Given the description of an element on the screen output the (x, y) to click on. 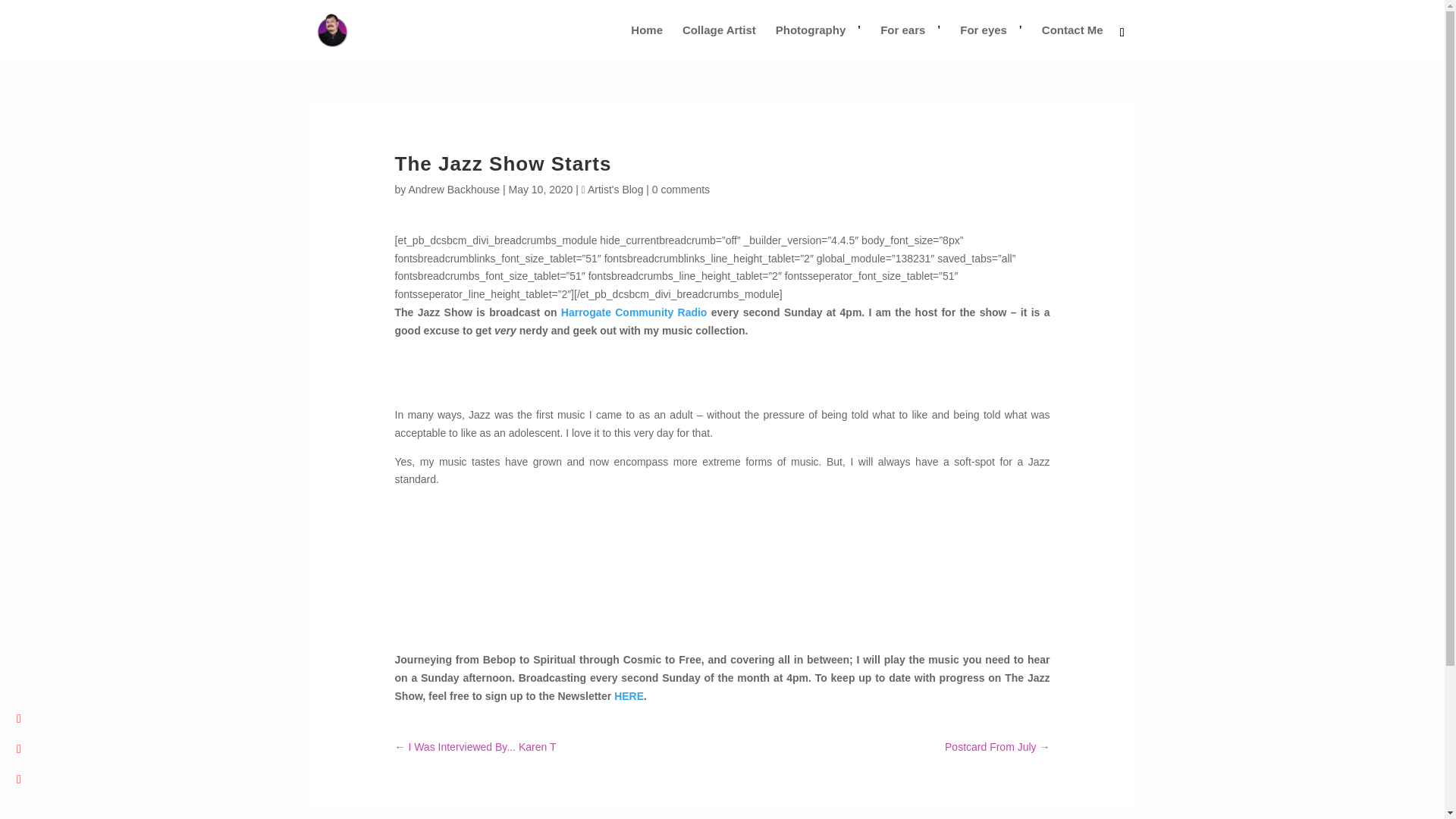
For ears (910, 42)
Home (646, 42)
For eyes (990, 42)
Contact Me (1072, 42)
Posts by Andrew Backhouse (453, 189)
Photography (818, 42)
Collage Artist (718, 42)
